Given the description of an element on the screen output the (x, y) to click on. 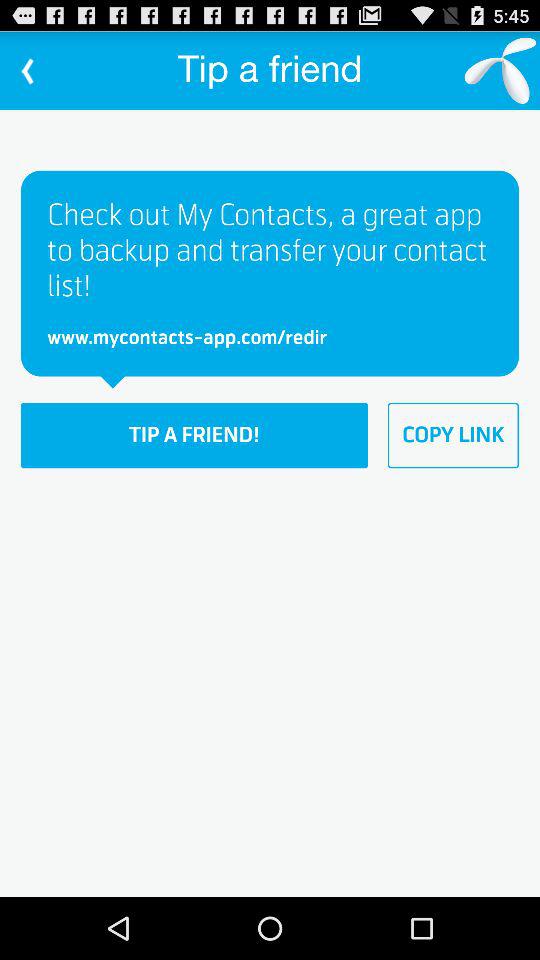
launch the item below check out my icon (453, 435)
